Given the description of an element on the screen output the (x, y) to click on. 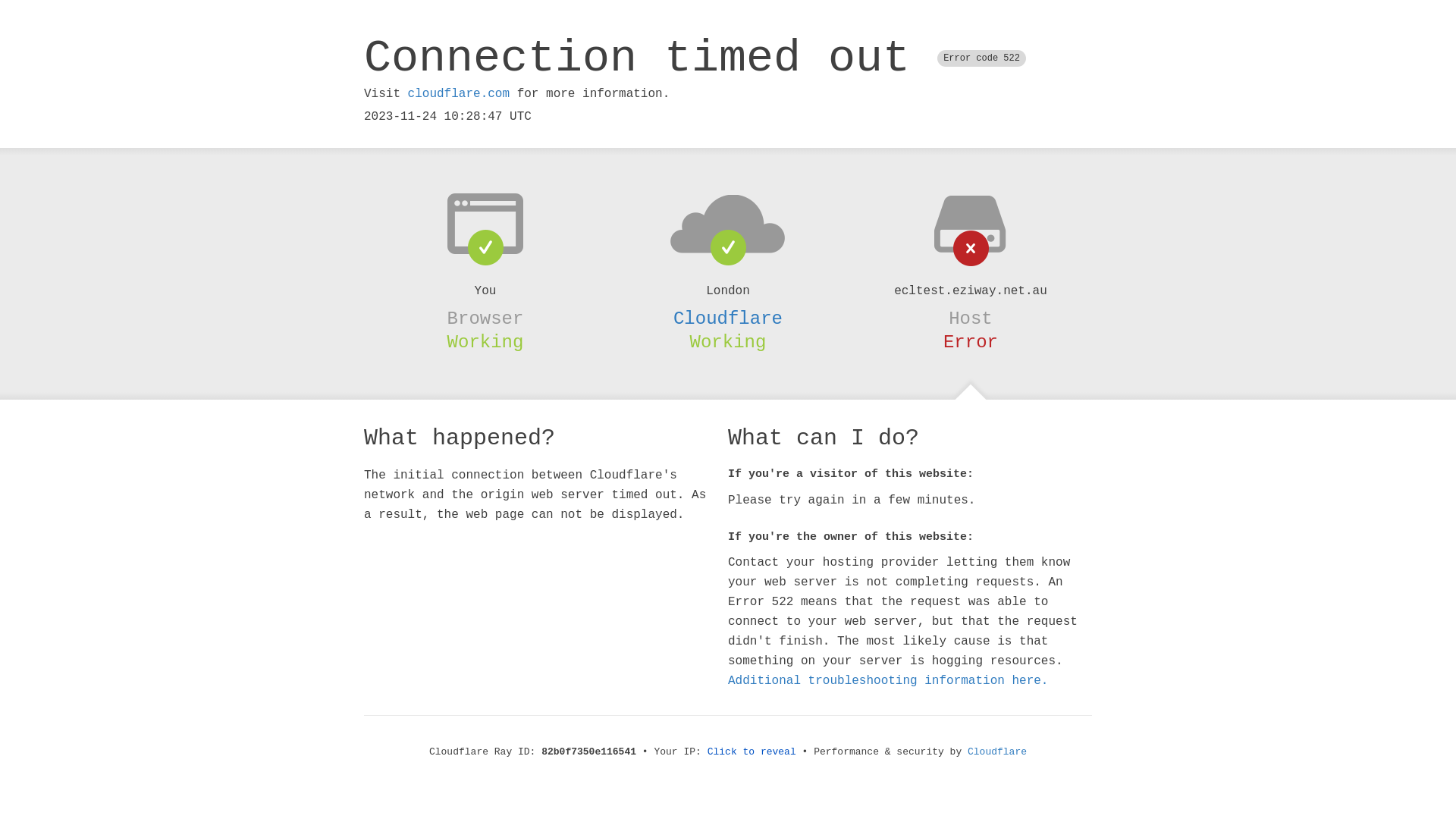
Additional troubleshooting information here. Element type: text (888, 680)
Cloudflare Element type: text (996, 751)
Click to reveal Element type: text (751, 751)
cloudflare.com Element type: text (458, 93)
Cloudflare Element type: text (727, 318)
